Given the description of an element on the screen output the (x, y) to click on. 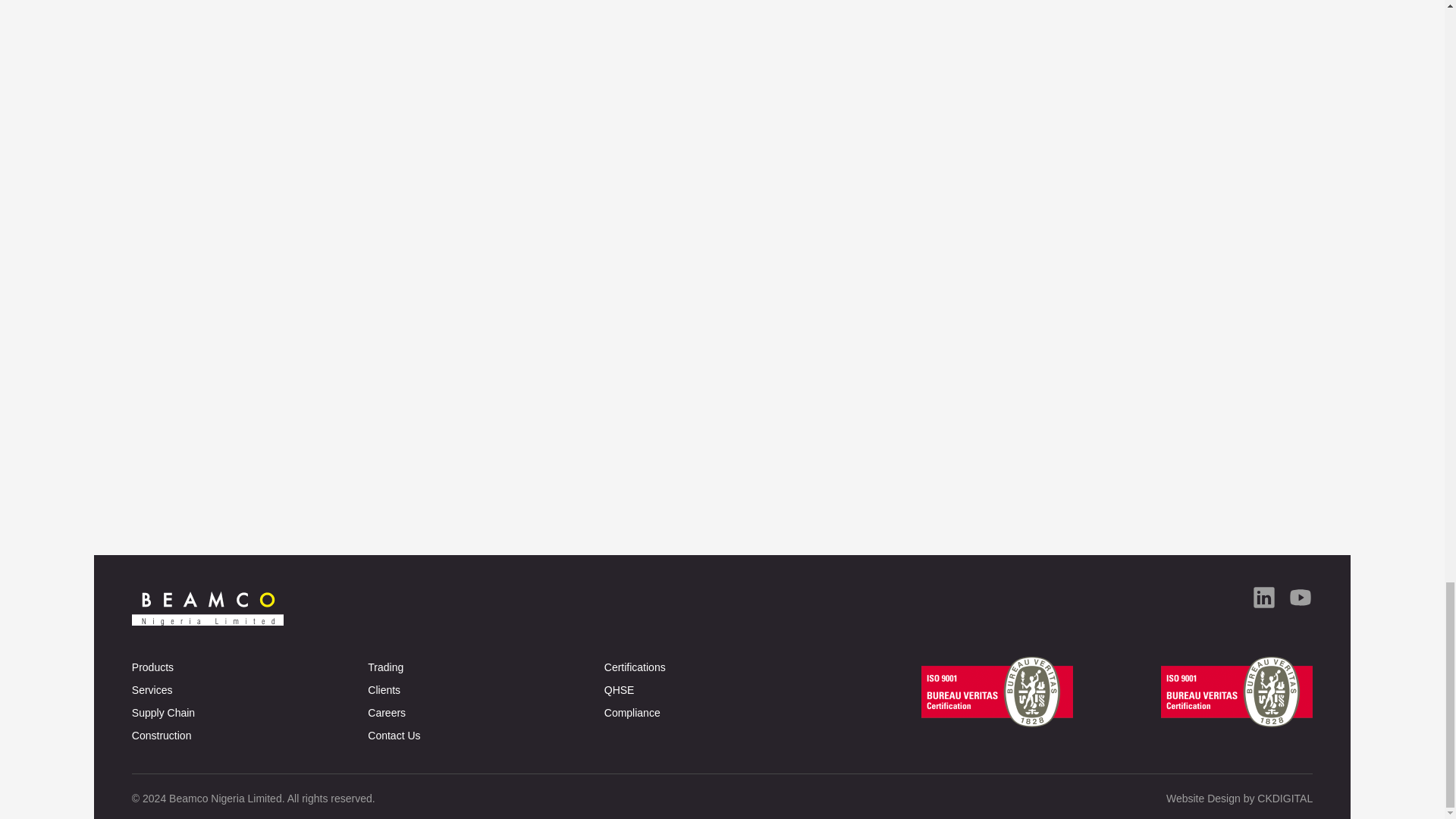
Supply Chain (250, 712)
Clients (486, 689)
Website Design by CKDIGITAL (1239, 798)
Certifications (722, 667)
Compliance (722, 712)
Services (250, 689)
QHSE (722, 689)
Trading (486, 667)
Careers (486, 712)
Products (250, 667)
Construction (250, 734)
Contact Us (486, 734)
